Given the description of an element on the screen output the (x, y) to click on. 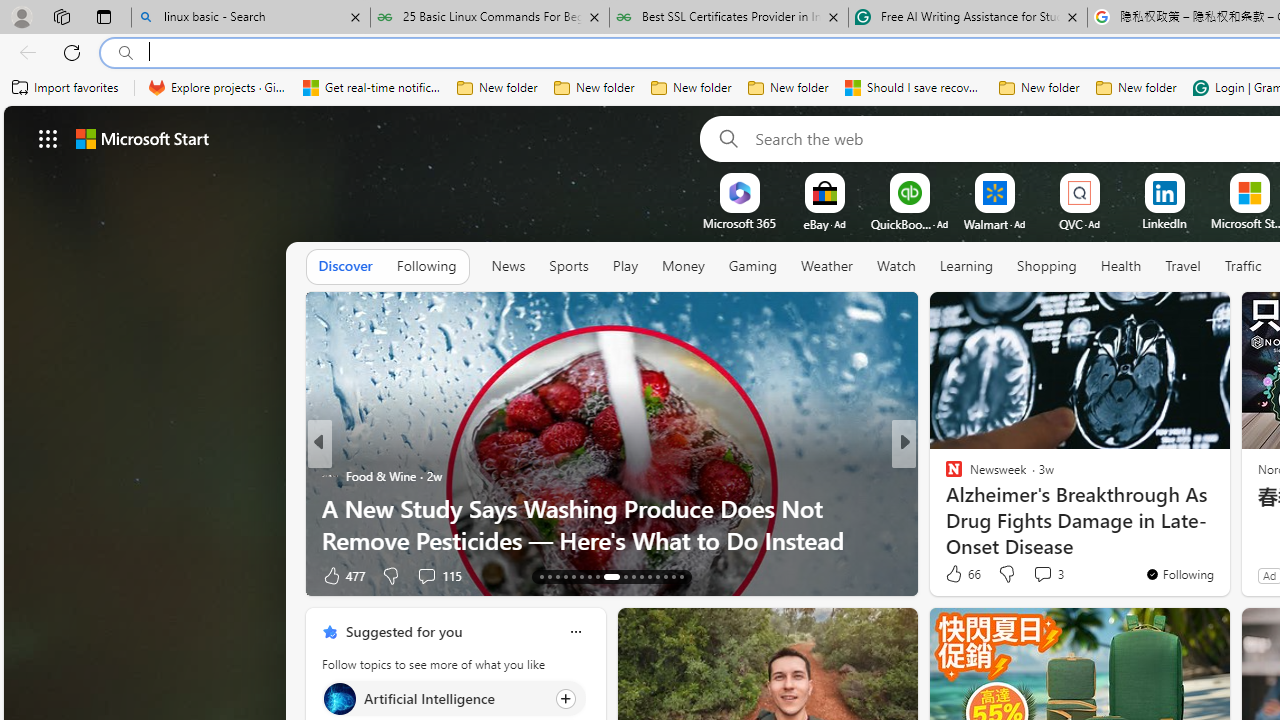
You're following Newsweek (1179, 573)
Reader's Digest (944, 475)
Click to follow topic Artificial Intelligence (453, 698)
View comments 26 Comment (426, 575)
Health (1121, 267)
Sports (569, 267)
Microsoft start (142, 138)
Watch (895, 265)
Search icon (125, 53)
Sports (568, 265)
Gaming (752, 265)
